Given the description of an element on the screen output the (x, y) to click on. 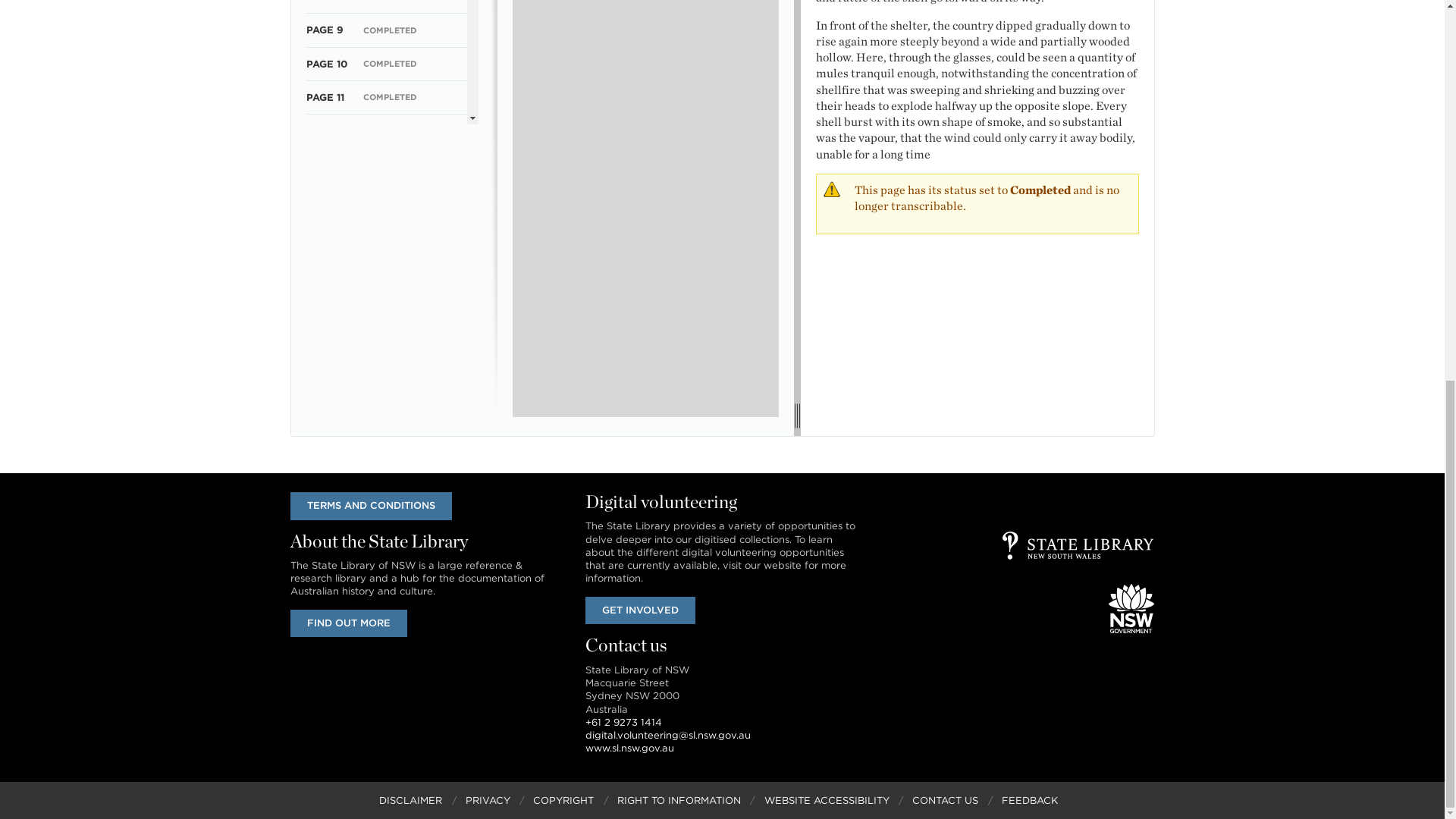
PAGE 22 (327, 466)
PAGE 19 (326, 365)
State Library of NSW (1078, 545)
PAGE 15 (325, 231)
PAGE 24 (327, 533)
NSW Government (1131, 608)
PAGE 20 (327, 399)
PAGE 14 (326, 197)
PAGE 12 (325, 130)
PAGE 18 (325, 332)
PAGE 21 (325, 432)
PAGE 8 (323, 1)
PAGE 16 (326, 265)
PAGE 13 (325, 164)
PAGE 10 (326, 63)
